Given the description of an element on the screen output the (x, y) to click on. 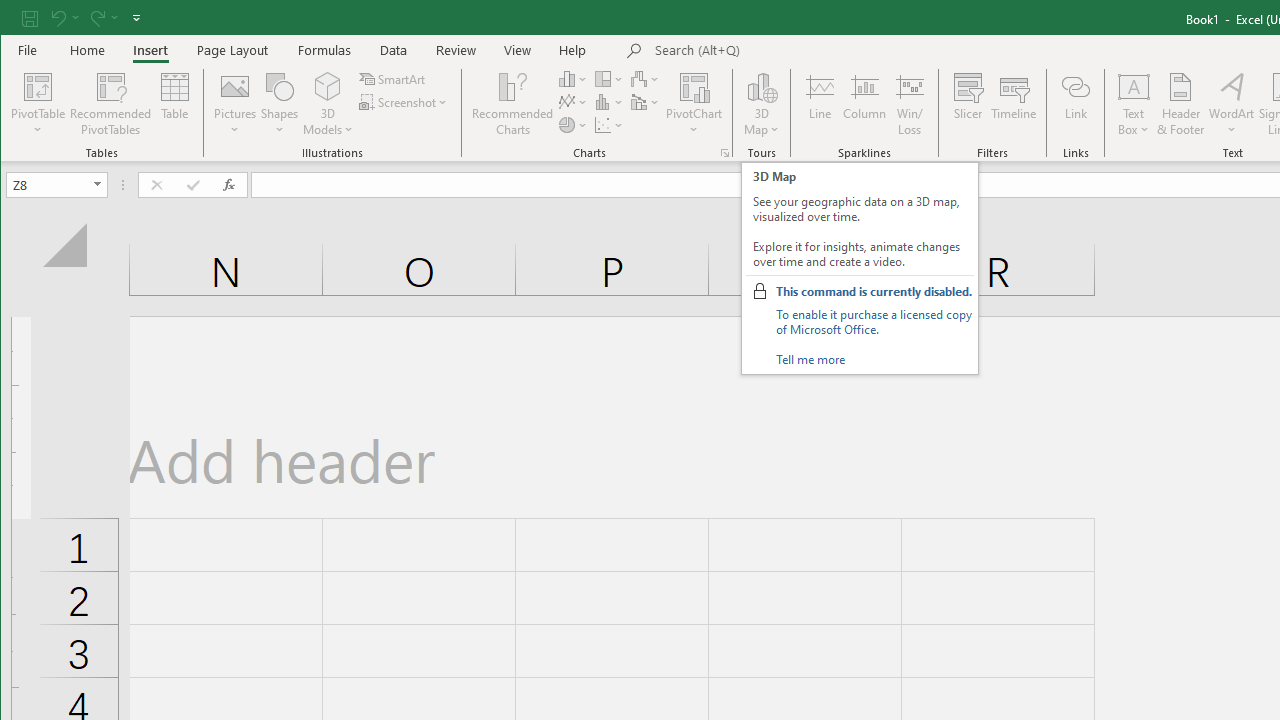
Insert Scatter (X, Y) or Bubble Chart (609, 124)
Slicer... (968, 104)
PivotTable (37, 104)
This command is currently disabled. (874, 291)
Link (1075, 104)
Recommended PivotTables (110, 104)
Text Box (1133, 104)
Timeline (1014, 104)
Recommended Charts (724, 152)
